Given the description of an element on the screen output the (x, y) to click on. 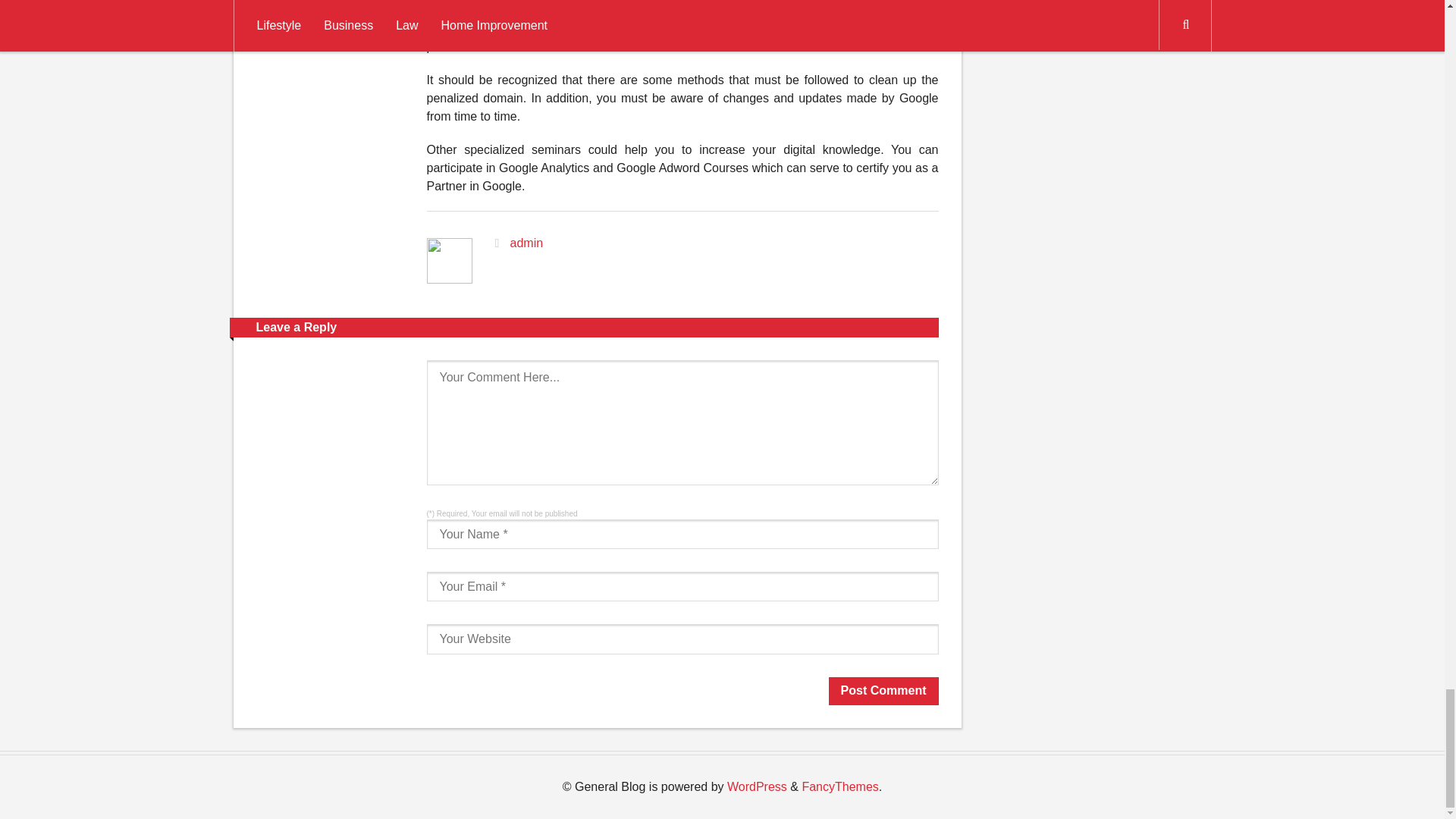
admin (526, 242)
Posts by admin (526, 242)
Post Comment (883, 691)
Post Comment (883, 691)
